Given the description of an element on the screen output the (x, y) to click on. 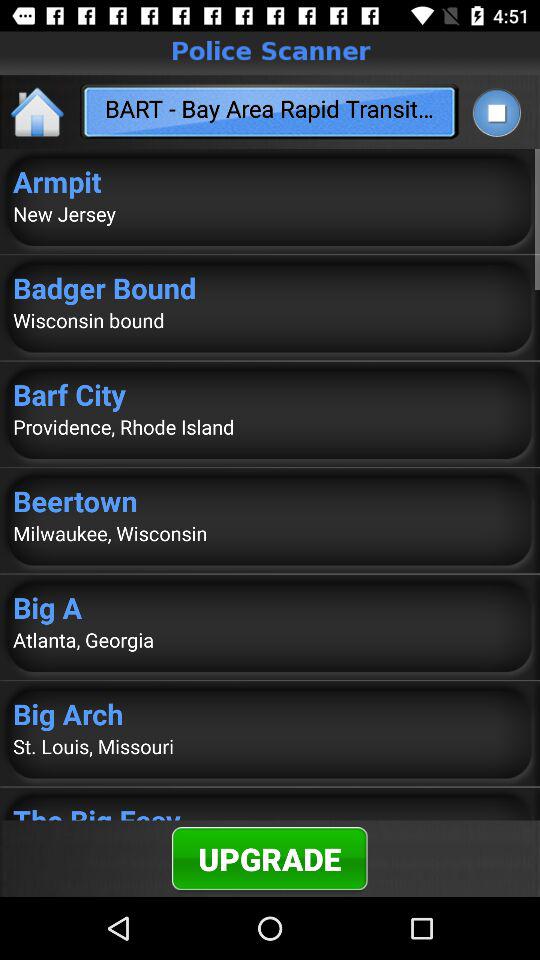
home page (38, 111)
